Given the description of an element on the screen output the (x, y) to click on. 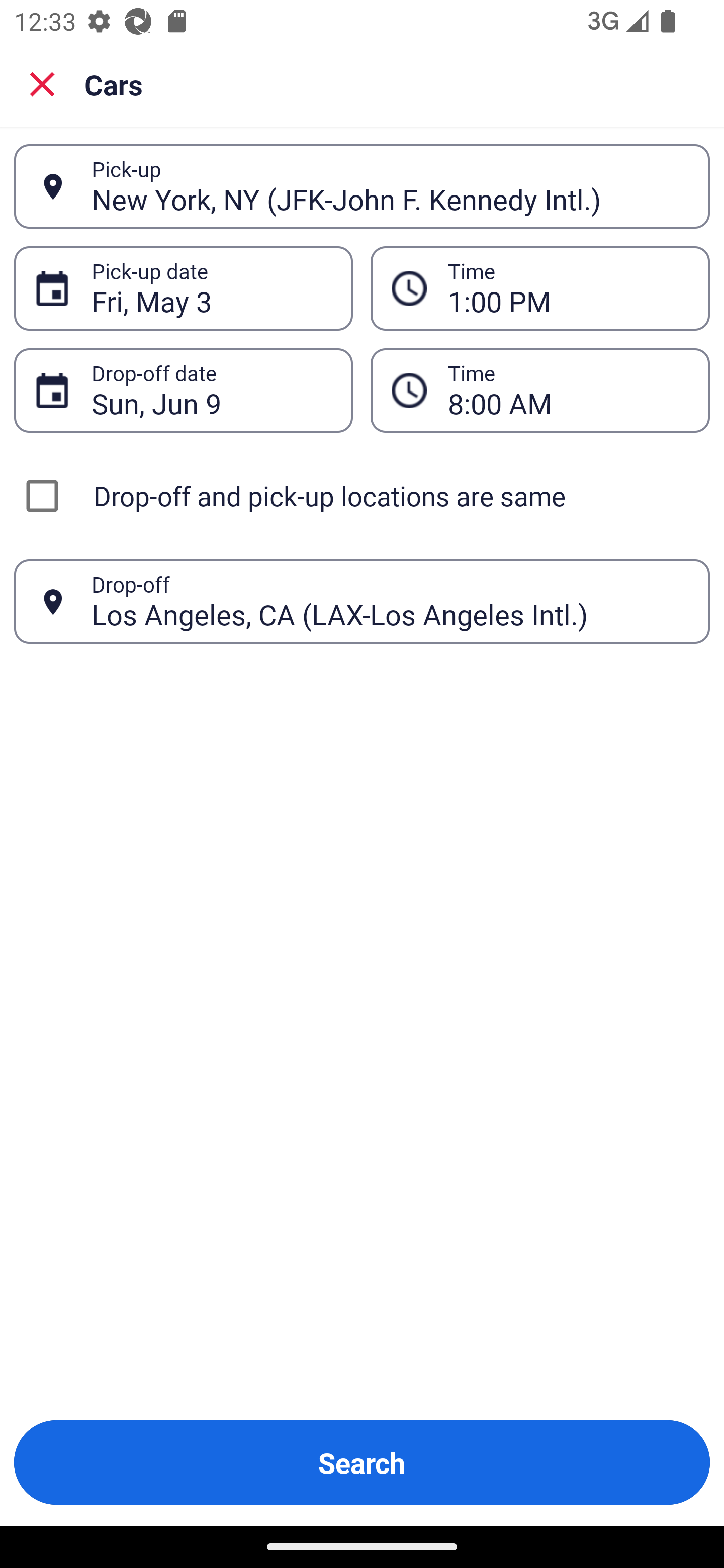
Close search screen (42, 84)
New York, NY (JFK-John F. Kennedy Intl.) (389, 186)
Fri, May 3 (211, 288)
1:00 PM (568, 288)
Sun, Jun 9 (211, 390)
8:00 AM (568, 390)
Drop-off and pick-up locations are same (361, 495)
Los Angeles, CA (LAX-Los Angeles Intl.) (389, 601)
Search Button Search (361, 1462)
